Given the description of an element on the screen output the (x, y) to click on. 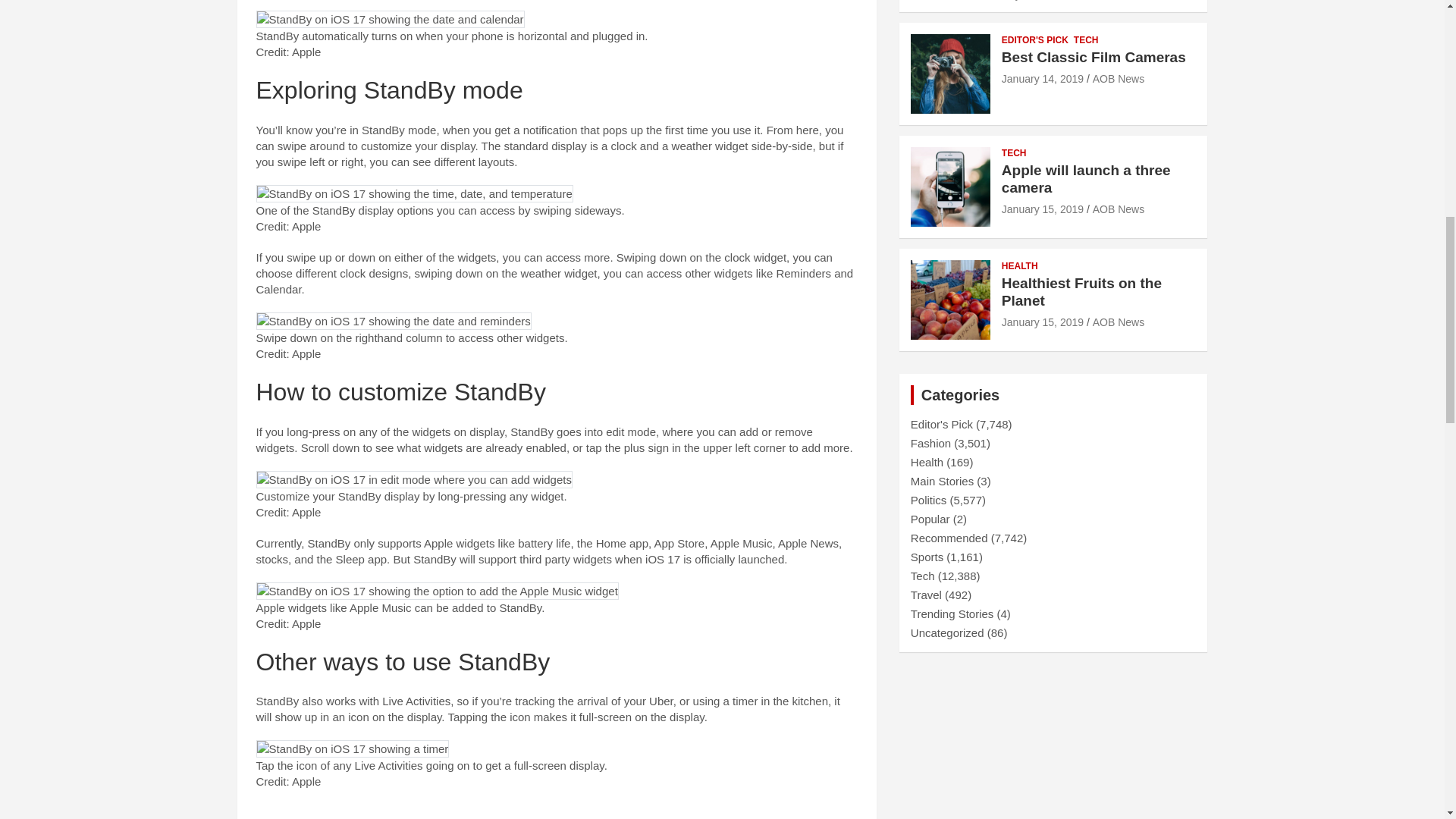
The Best Dressed Stars of the Week Went Extra Form-Fitting (1032, 0)
Best Classic Film Cameras (1042, 78)
Healthiest Fruits on the Planet (1042, 322)
Apple will launch a three camera (1042, 209)
